Given the description of an element on the screen output the (x, y) to click on. 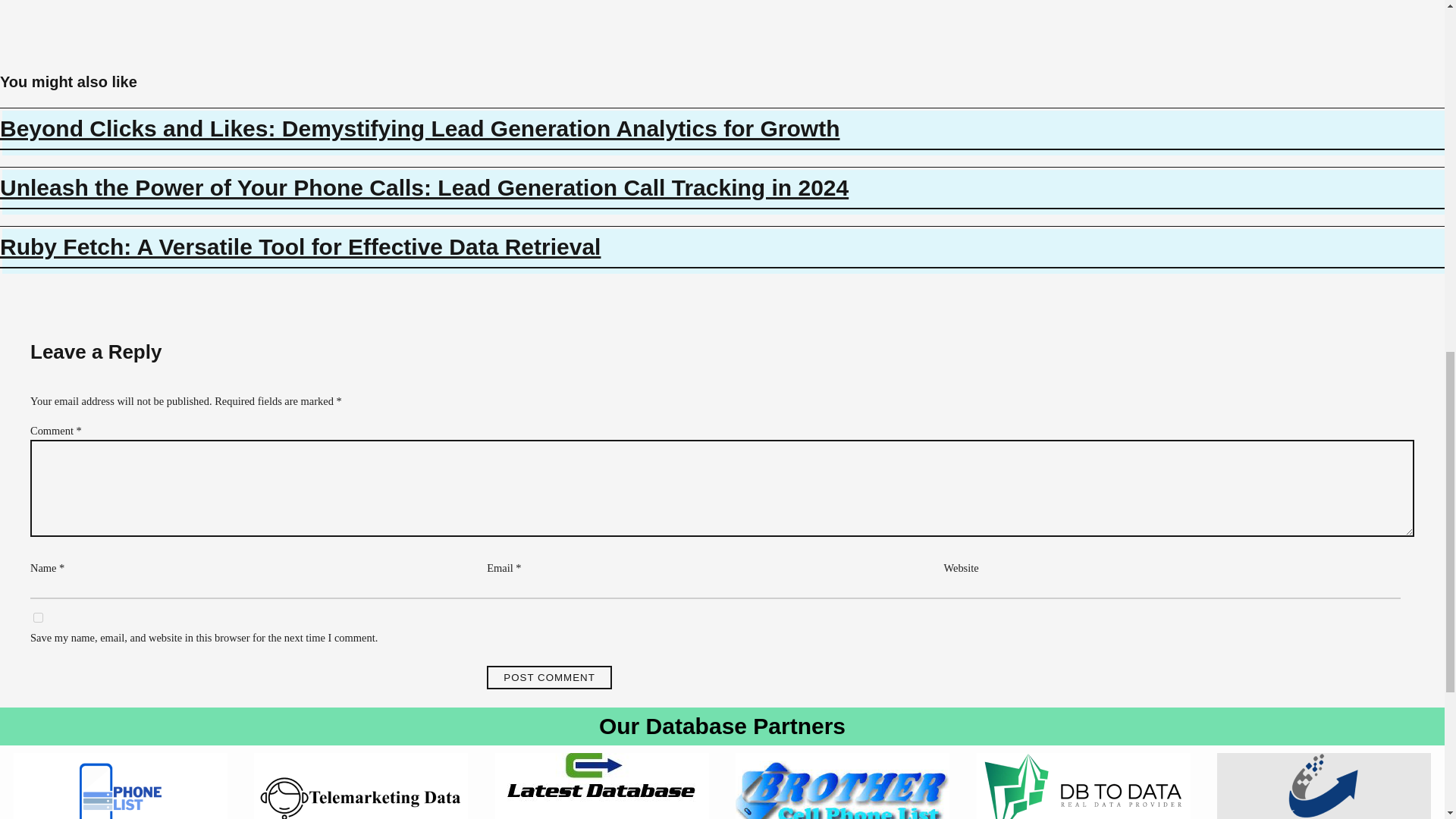
yes (38, 617)
Post Comment (548, 677)
Ruby Fetch: A Versatile Tool for Effective Data Retrieval (722, 247)
Post Comment (548, 677)
Ruby Fetch: A Versatile Tool for Effective Data Retrieval (722, 247)
